Given the description of an element on the screen output the (x, y) to click on. 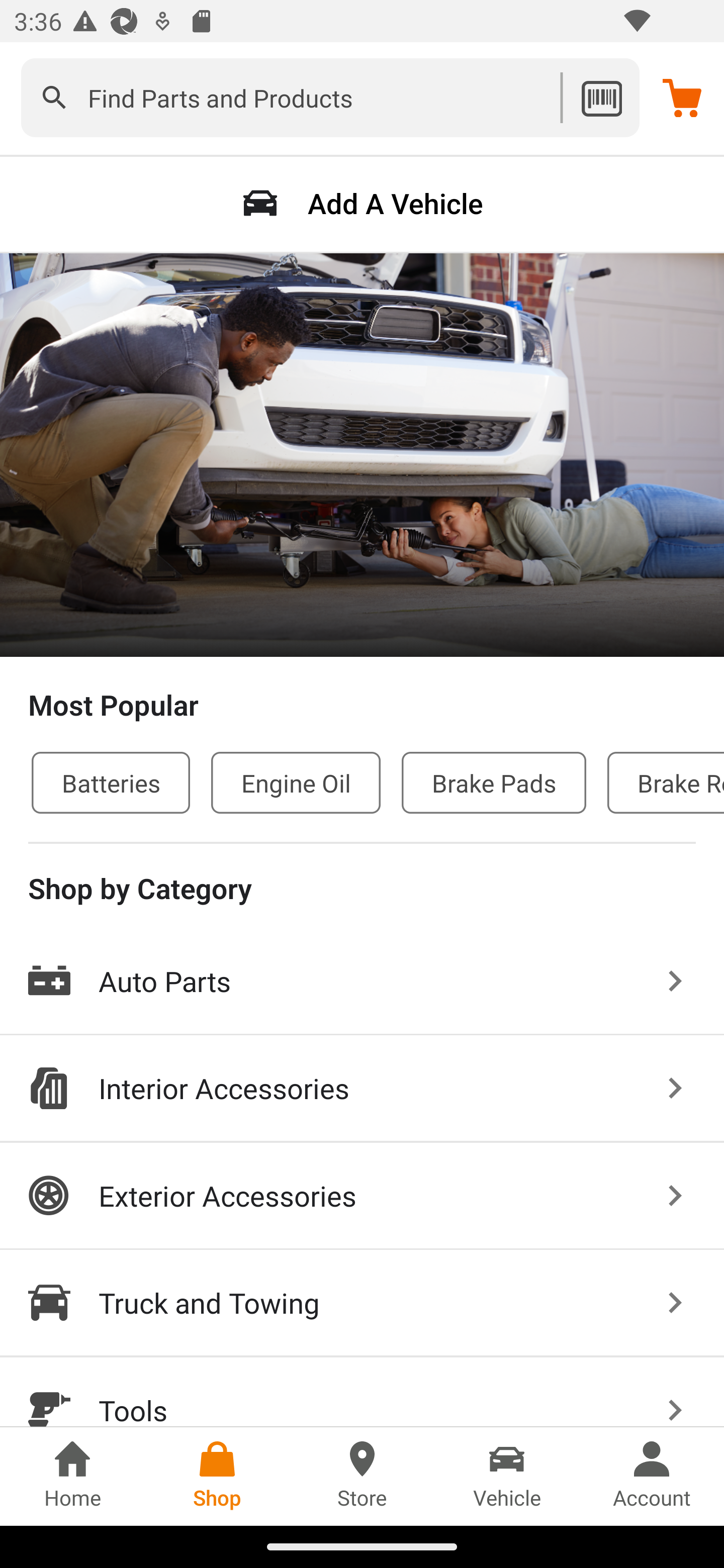
 scan-product-to-search  (601, 97)
 (54, 97)
Cart, no items  (681, 97)
add-vehicle-button  Add A Vehicle (362, 202)
Batteries (110, 782)
Engine Oil (295, 782)
Brake Pads (493, 782)
Brake Rotors (665, 782)
Auto Parts category  Auto Parts  (362, 981)
Truck and Towing category  Truck and Towing  (362, 1303)
Tools category  Tools  (362, 1391)
Home (72, 1475)
Shop (216, 1475)
Store (361, 1475)
Vehicle (506, 1475)
Account (651, 1475)
